Given the description of an element on the screen output the (x, y) to click on. 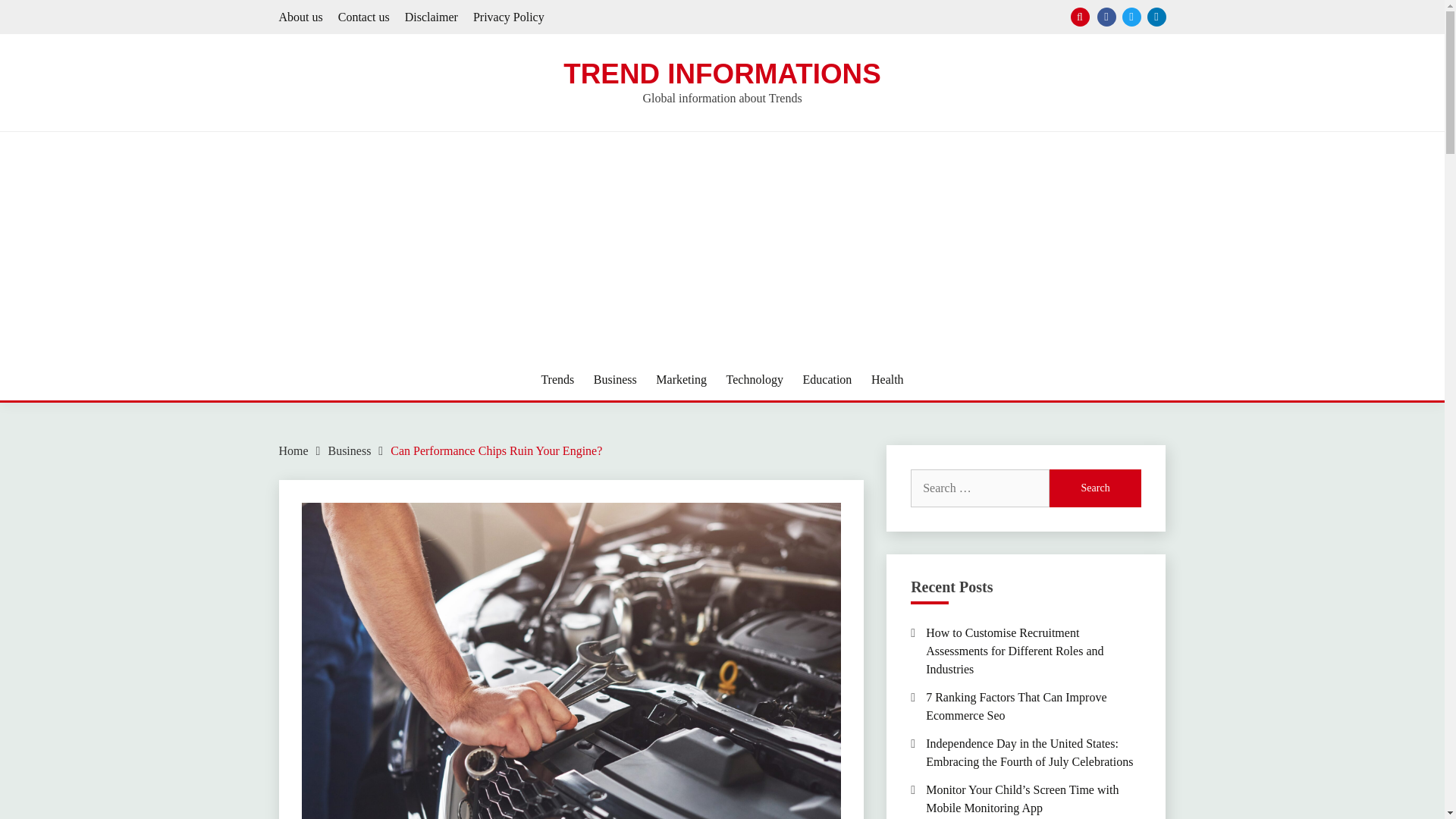
Search (1095, 487)
Marketing (681, 380)
Privacy Policy (508, 16)
Facebook (1105, 16)
Trends (556, 380)
Linkedin (1156, 16)
Disclaimer (431, 16)
About us (301, 16)
TREND INFORMATIONS (721, 73)
